Given the description of an element on the screen output the (x, y) to click on. 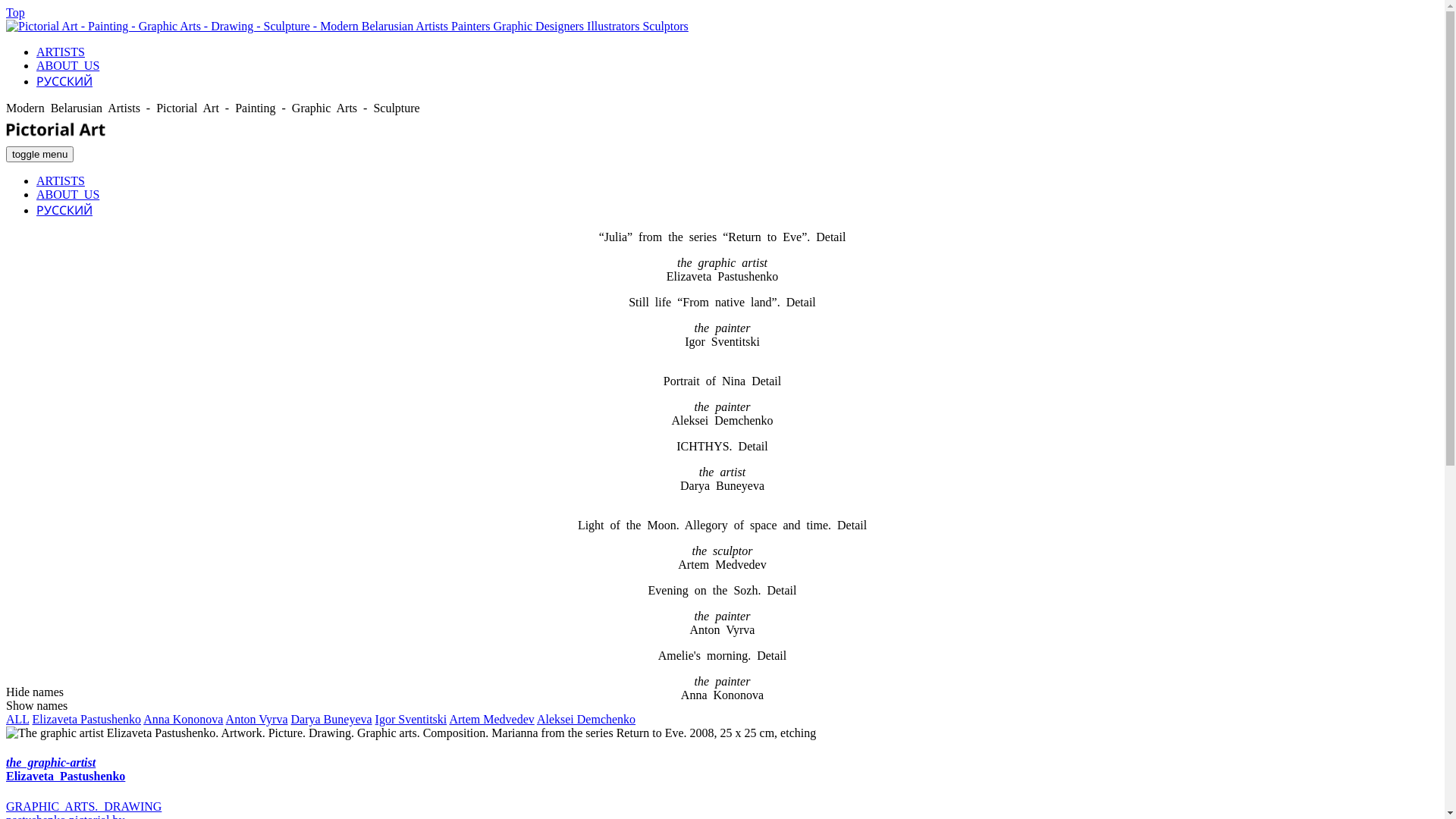
toggle menu Element type: text (39, 154)
Top Element type: text (15, 12)
ARTISTS Element type: text (737, 52)
ARTISTS Element type: text (60, 180)
Anton Vyrva Element type: text (256, 718)
ABOUT  US Element type: text (67, 194)
ABOUT  US Element type: text (737, 65)
Igor Sventitski Element type: text (411, 718)
Darya Buneyeva Element type: text (331, 718)
ALL Element type: text (17, 718)
Elizaveta Pastushenko Element type: text (86, 718)
Aleksei Demchenko Element type: text (585, 718)
Artem Medvedev Element type: text (490, 718)
Anna Kononova Element type: text (182, 718)
